Given the description of an element on the screen output the (x, y) to click on. 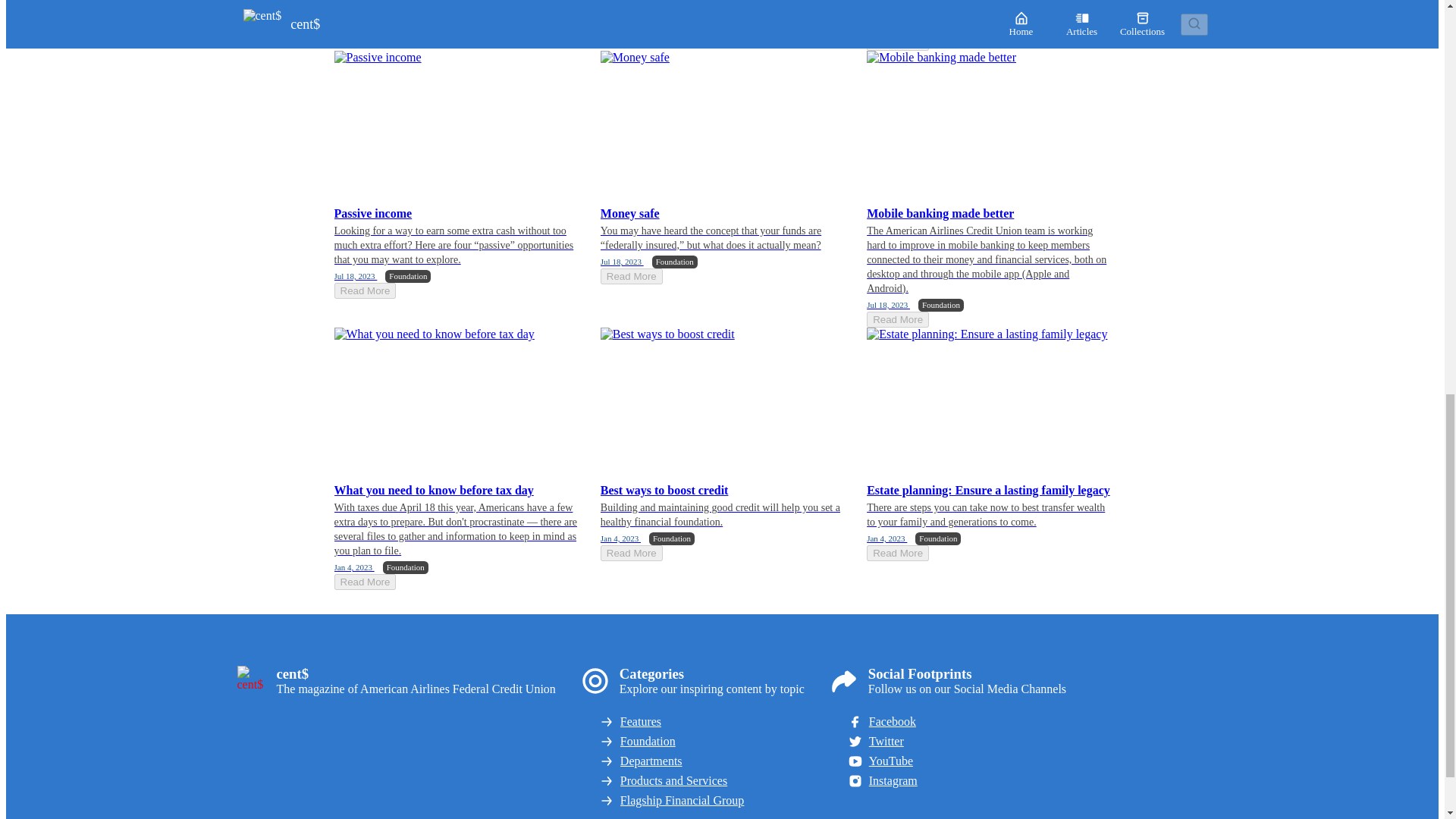
Read More (630, 276)
Read More (897, 319)
Features (712, 721)
Read More (630, 553)
Twitter (956, 741)
Foundation (712, 741)
Read More (630, 3)
Read More (364, 581)
Departments (712, 761)
Flagship Financial Group (712, 800)
Read More (897, 42)
Read More (364, 28)
Read More (897, 553)
